Given the description of an element on the screen output the (x, y) to click on. 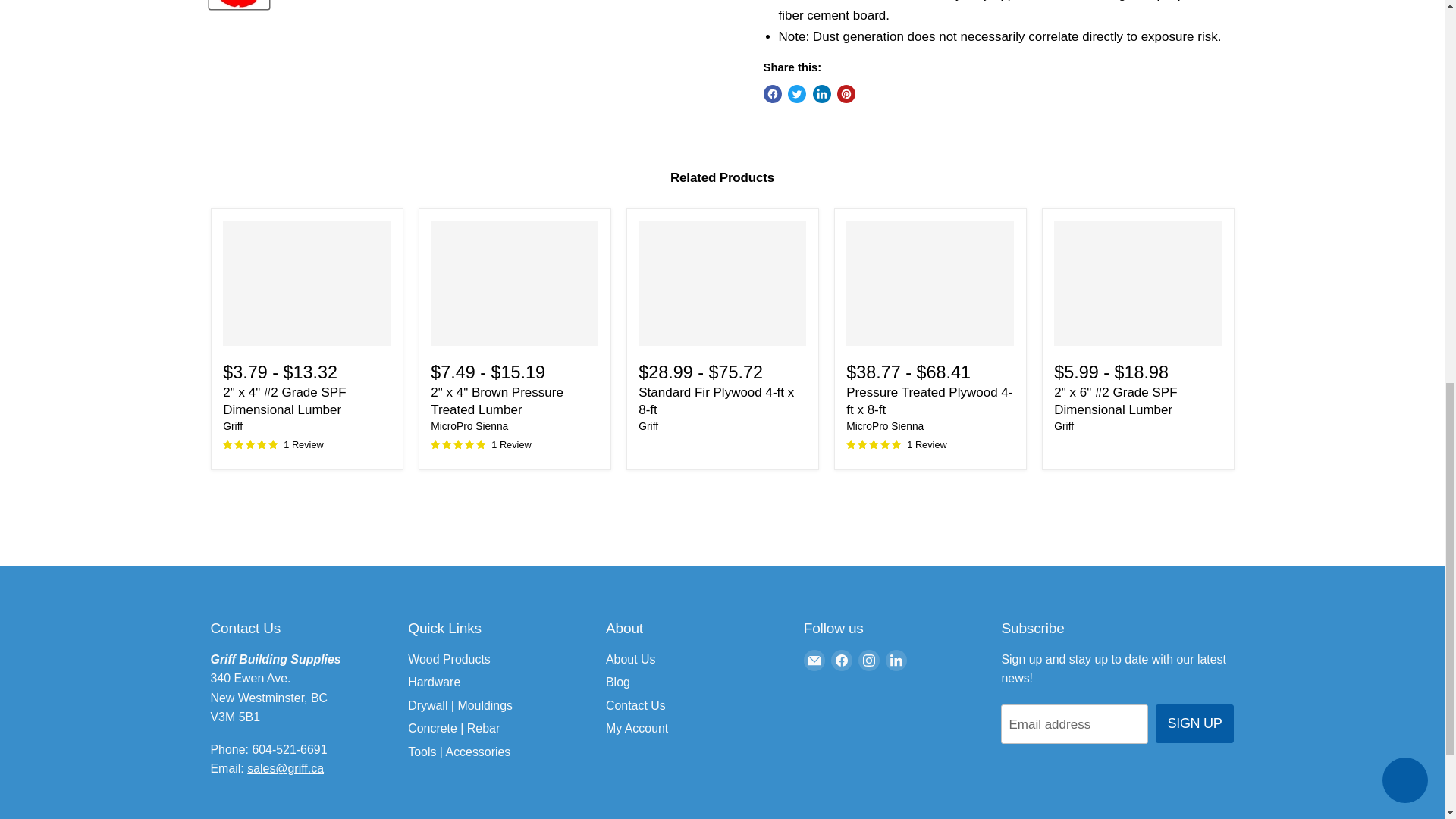
Email (814, 660)
Griff (648, 426)
Instagram (869, 660)
MicroPro Sienna (469, 426)
Griff (232, 426)
LinkedIn (896, 660)
tel:604-521-6691 (288, 748)
Griff (1064, 426)
Facebook (841, 660)
MicroPro Sienna (884, 426)
